Given the description of an element on the screen output the (x, y) to click on. 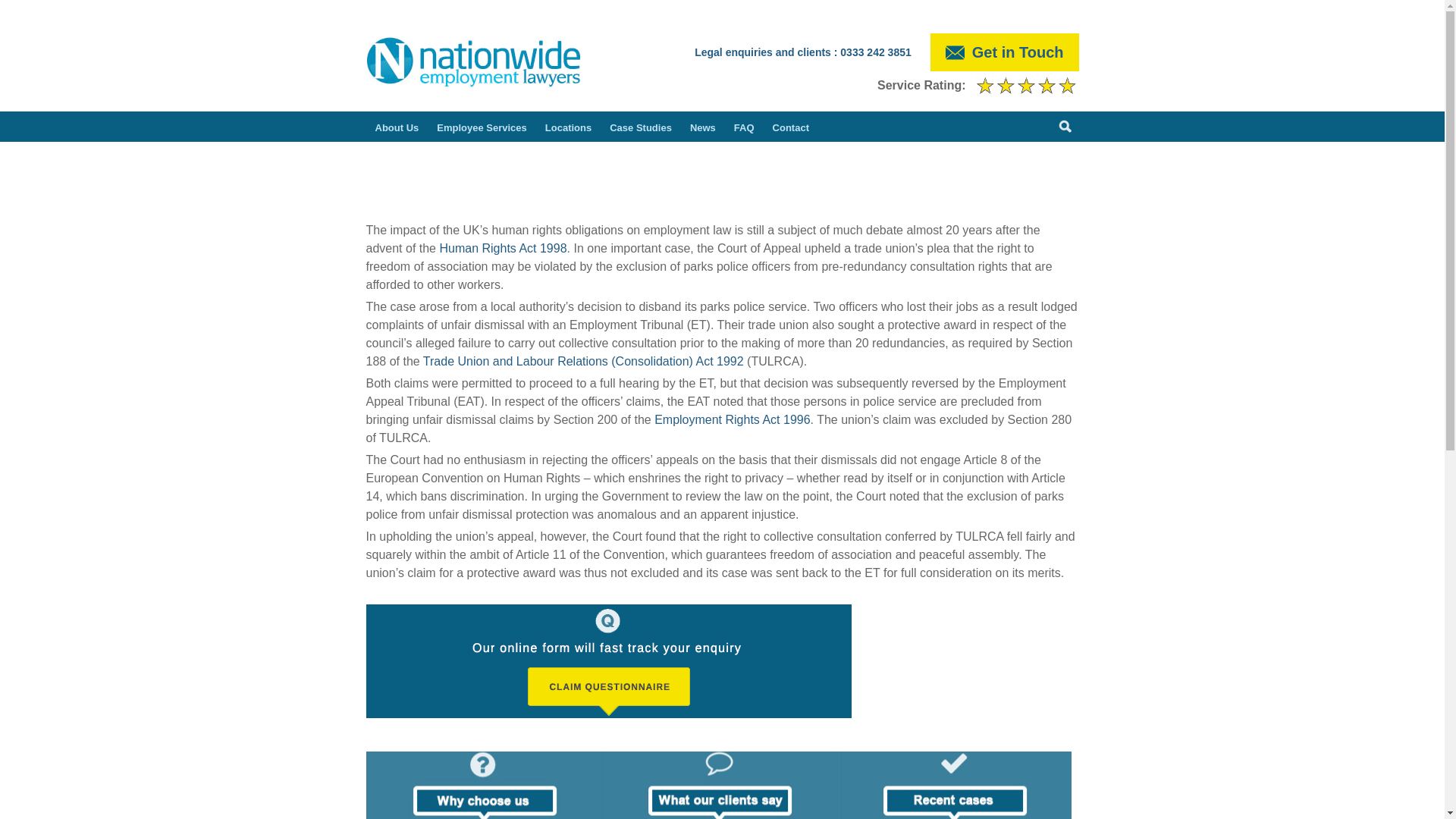
Get in Touch (1004, 52)
Legal enquiries and clients : 0333 242 3851 (802, 51)
Employee Services (481, 126)
Locations (567, 126)
About Us (396, 126)
